Given the description of an element on the screen output the (x, y) to click on. 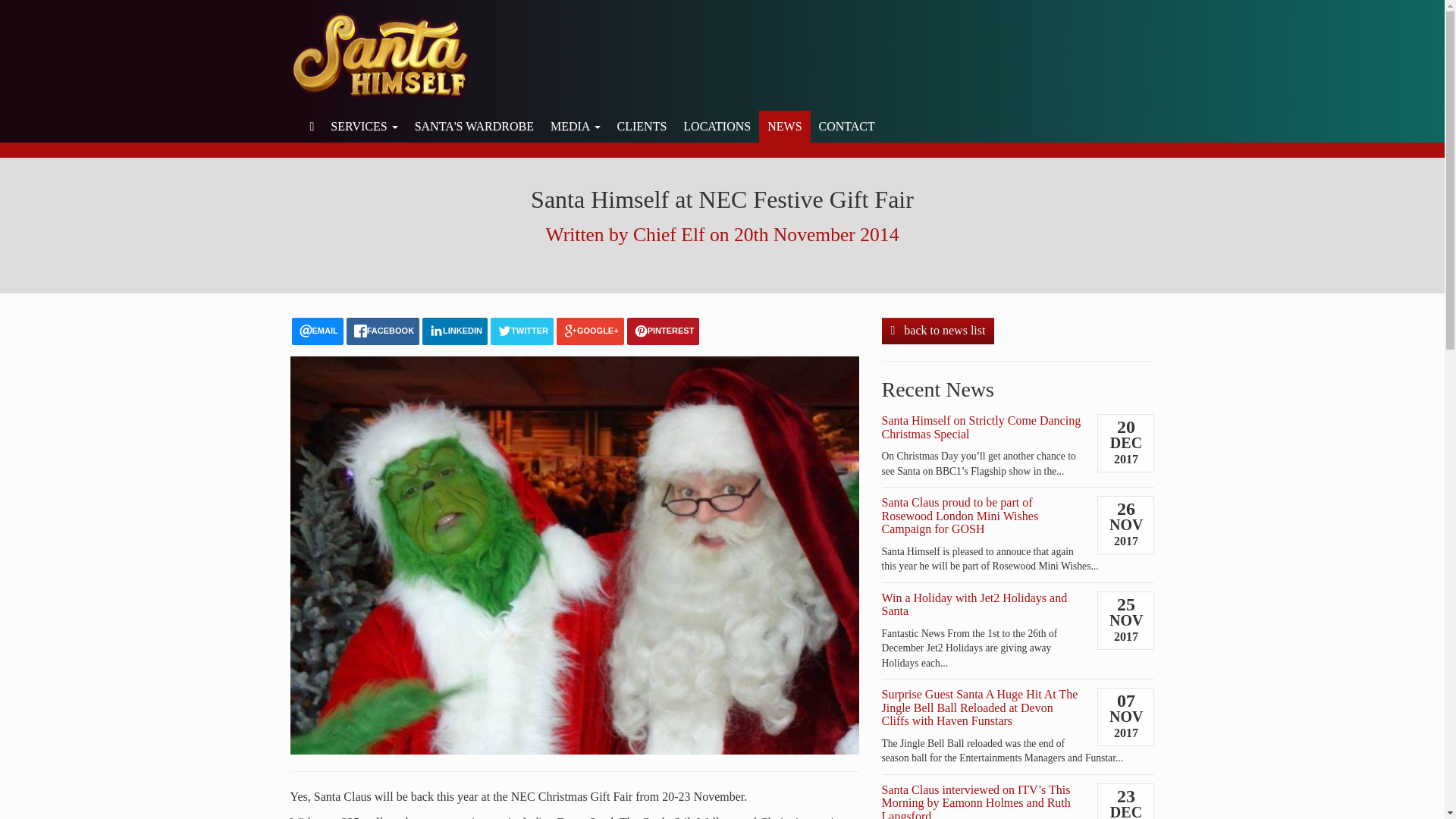
EMAIL (316, 330)
Santa Himself on Strictly Come Dancing Christmas Special (980, 427)
FACEBOOK (382, 330)
CLIENTS (641, 126)
MEDIA (574, 126)
LINKEDIN (454, 330)
SERVICES (363, 126)
LOCATIONS (716, 126)
 back to news list (937, 330)
SANTA'S WARDROBE (473, 126)
PINTEREST (663, 330)
CONTACT (846, 126)
TWITTER (521, 330)
Win a Holiday with Jet2 Holidays and Santa (973, 604)
